Given the description of an element on the screen output the (x, y) to click on. 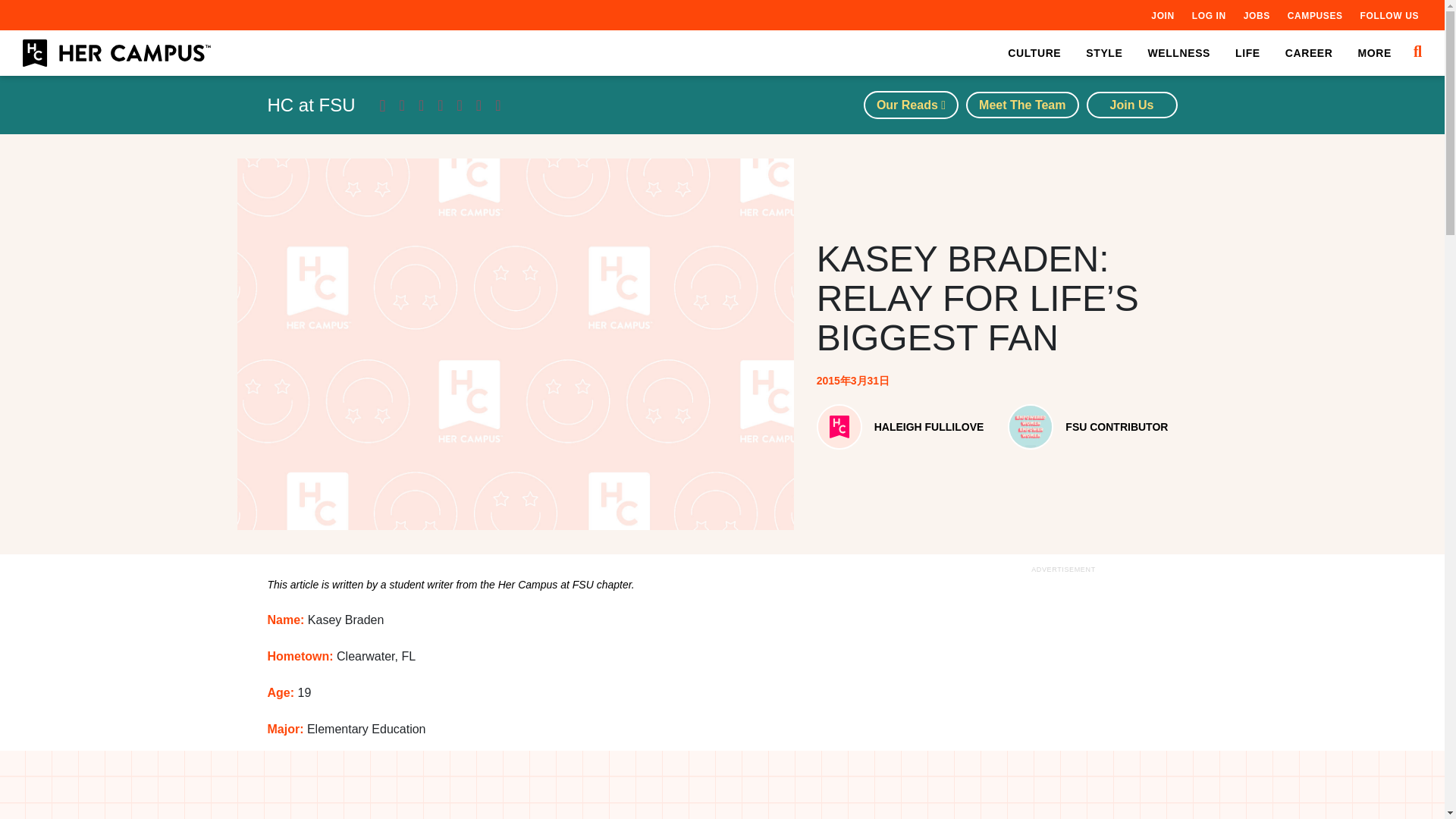
JOIN (1162, 15)
LOG IN (1208, 15)
JOBS (1256, 15)
CAMPUSES (1314, 15)
